Given the description of an element on the screen output the (x, y) to click on. 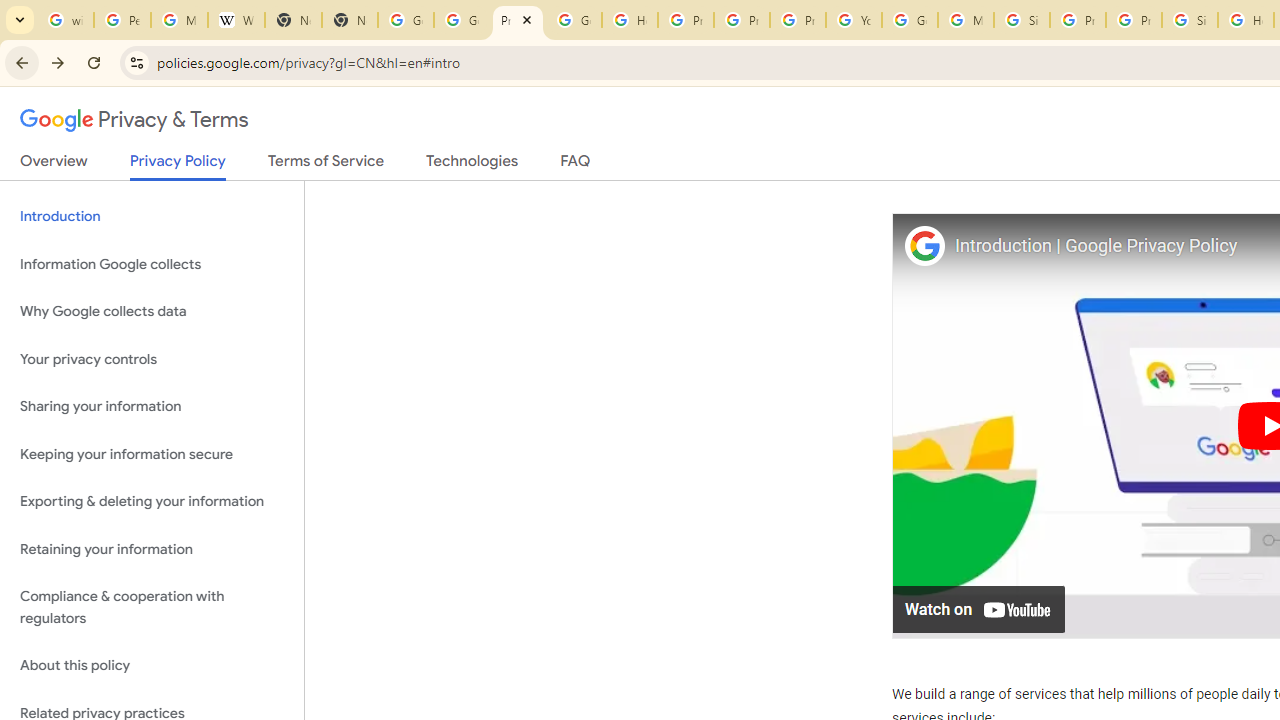
Technologies (472, 165)
Photo image of Google (924, 244)
Google Account Help (909, 20)
Keeping your information secure (152, 453)
About this policy (152, 666)
Terms of Service (326, 165)
Why Google collects data (152, 312)
Google Drive: Sign-in (461, 20)
